Given the description of an element on the screen output the (x, y) to click on. 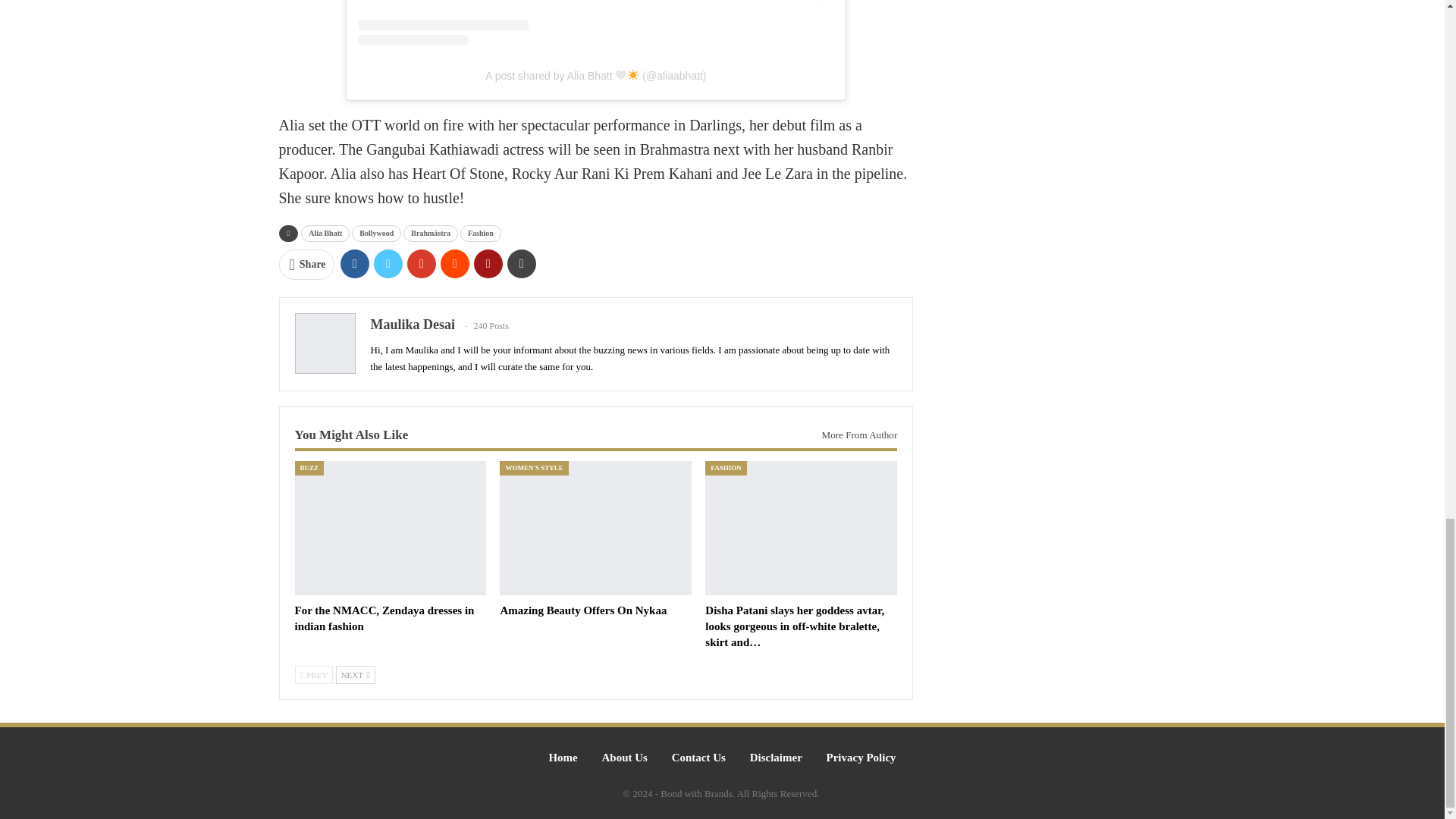
Amazing Beauty Offers On Nykaa (595, 528)
Previous (313, 674)
For the NMACC, Zendaya dresses in indian fashion (390, 528)
For the NMACC, Zendaya dresses in indian fashion (384, 618)
Amazing Beauty Offers On Nykaa (582, 610)
